Given the description of an element on the screen output the (x, y) to click on. 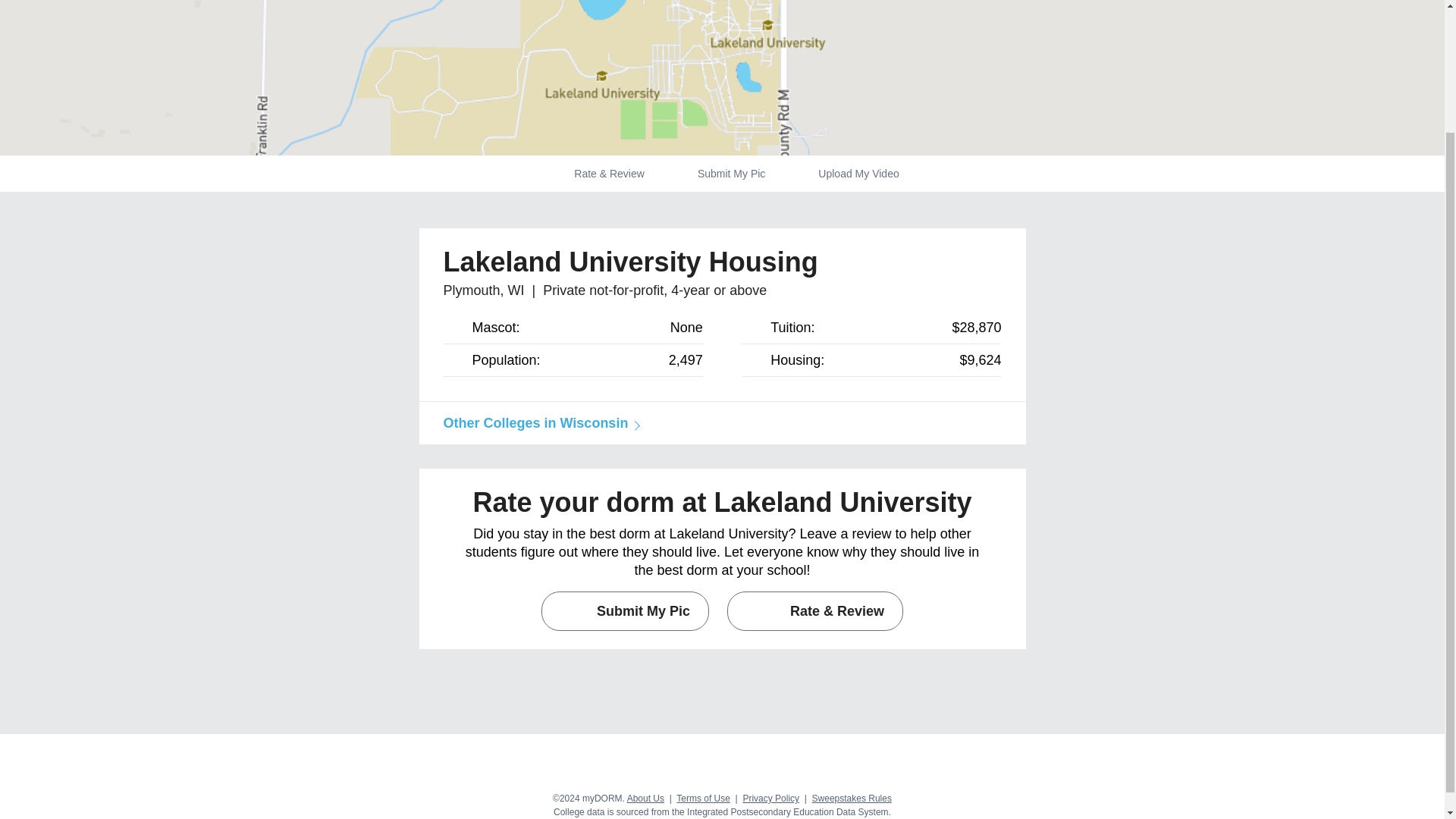
Upload My Video (858, 173)
Privacy Policy (770, 798)
Other Colleges in Wisconsin (538, 422)
Sweepstakes Rules (851, 798)
Submit My Pic (625, 610)
About Us (645, 798)
Submit My Pic (731, 173)
Terms of Use (703, 798)
